Given the description of an element on the screen output the (x, y) to click on. 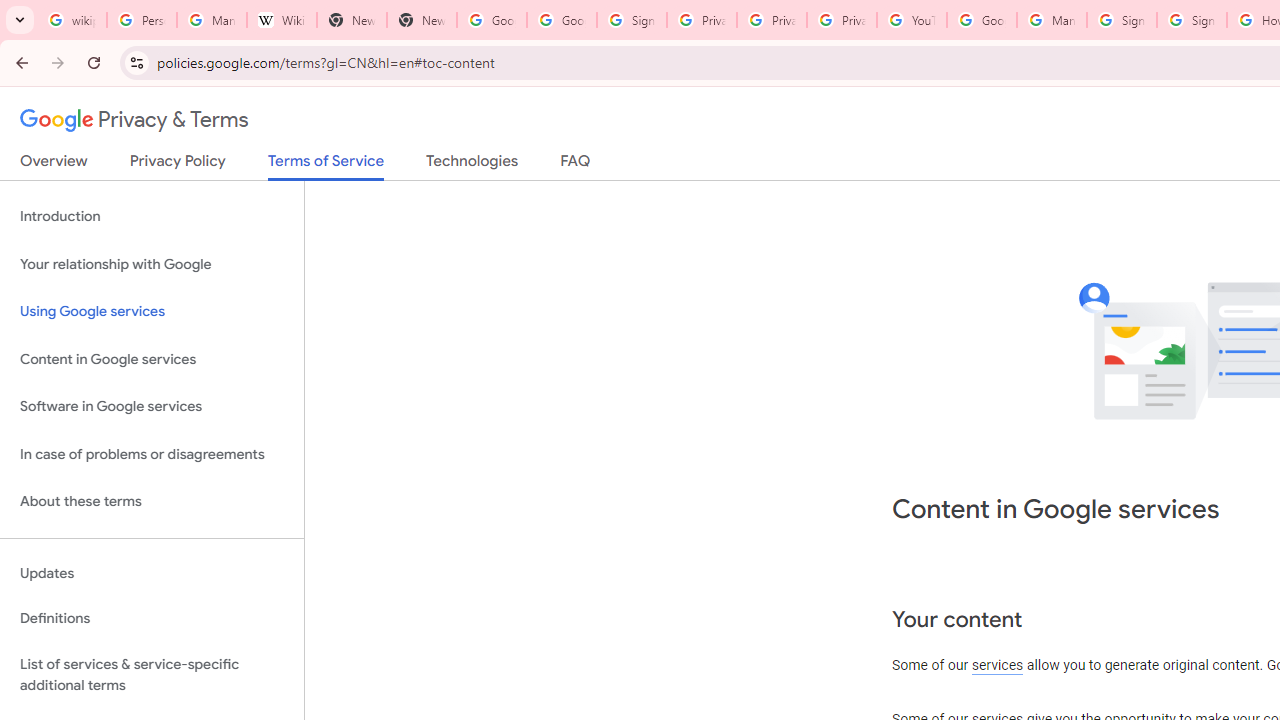
Using Google services (152, 312)
Your relationship with Google (152, 263)
Manage your Location History - Google Search Help (211, 20)
New Tab (421, 20)
